Given the description of an element on the screen output the (x, y) to click on. 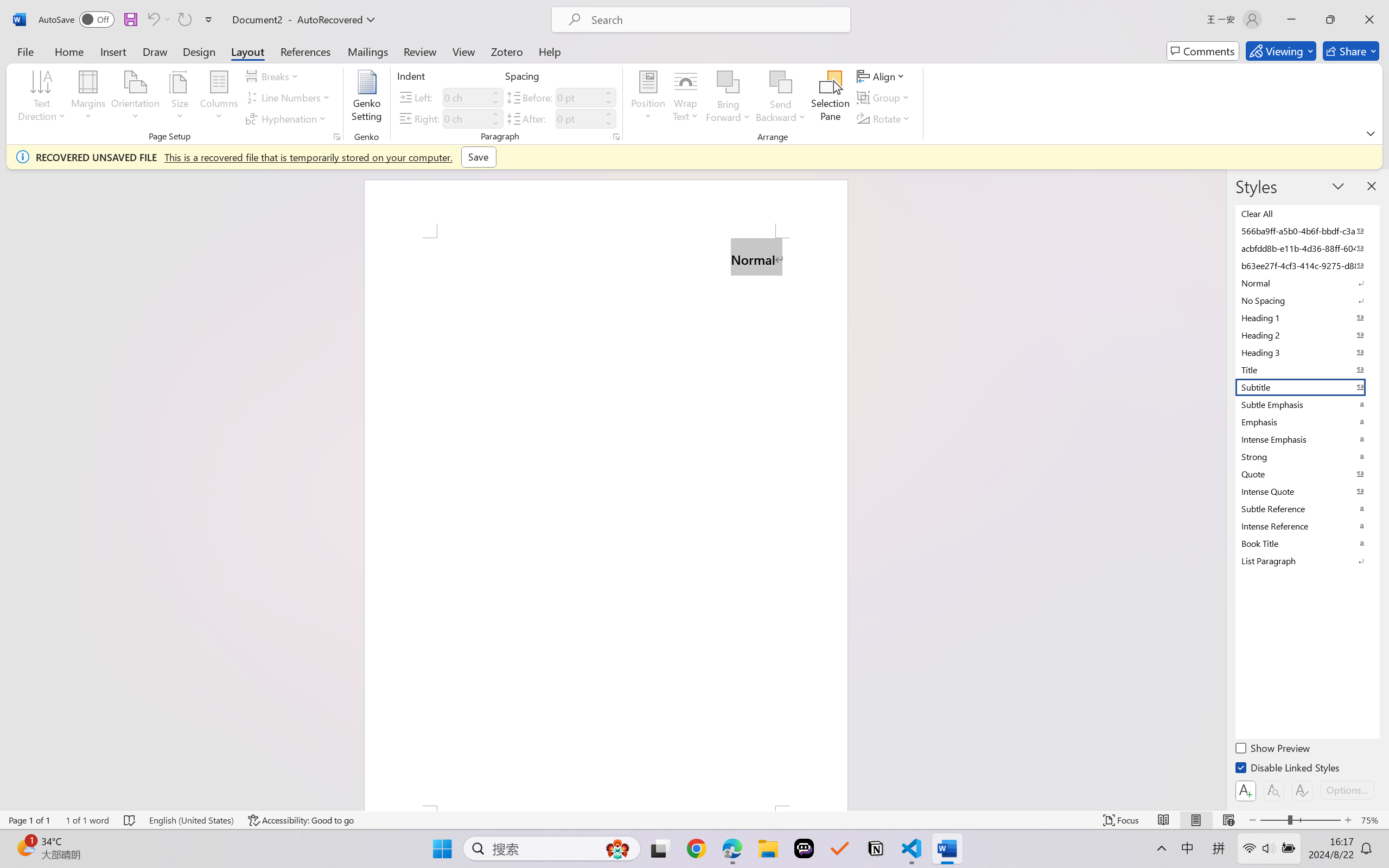
acbfdd8b-e11b-4d36-88ff-6049b138f862 (1306, 247)
